Given the description of an element on the screen output the (x, y) to click on. 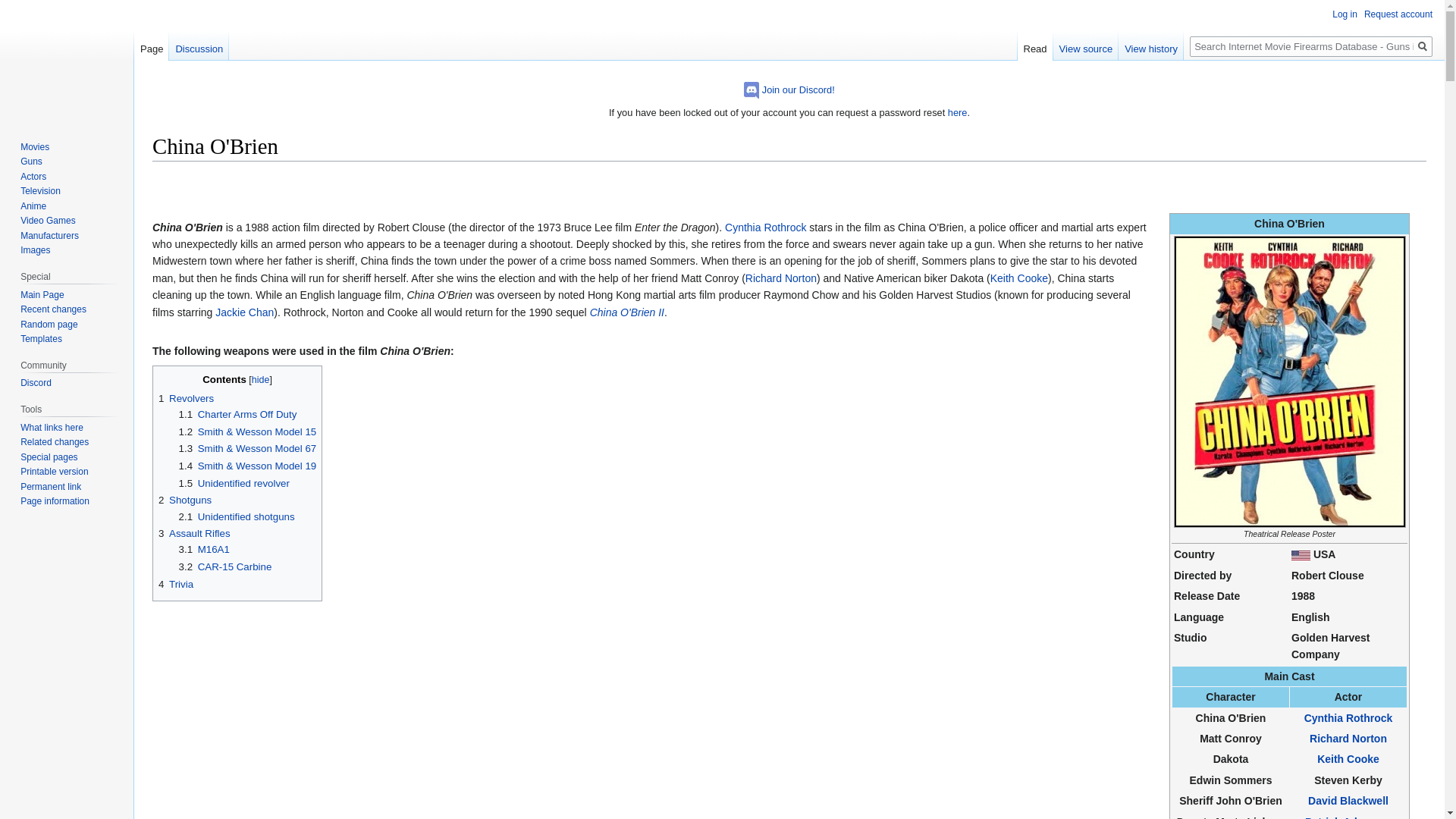
Search (1422, 46)
Special:PasswordReset (957, 112)
3.2 CAR-15 Carbine (225, 566)
Cynthia Rothrock (1348, 717)
Cynthia Rothrock (1348, 717)
Keith Cooke (1347, 758)
Cynthia Rothrock (765, 227)
Richard Norton (1347, 738)
1 Revolvers (186, 398)
David Blackwell (1348, 800)
3 Assault Rifles (194, 532)
Go (1422, 46)
Keith Cooke (1019, 277)
2 Shotguns (184, 500)
